Given the description of an element on the screen output the (x, y) to click on. 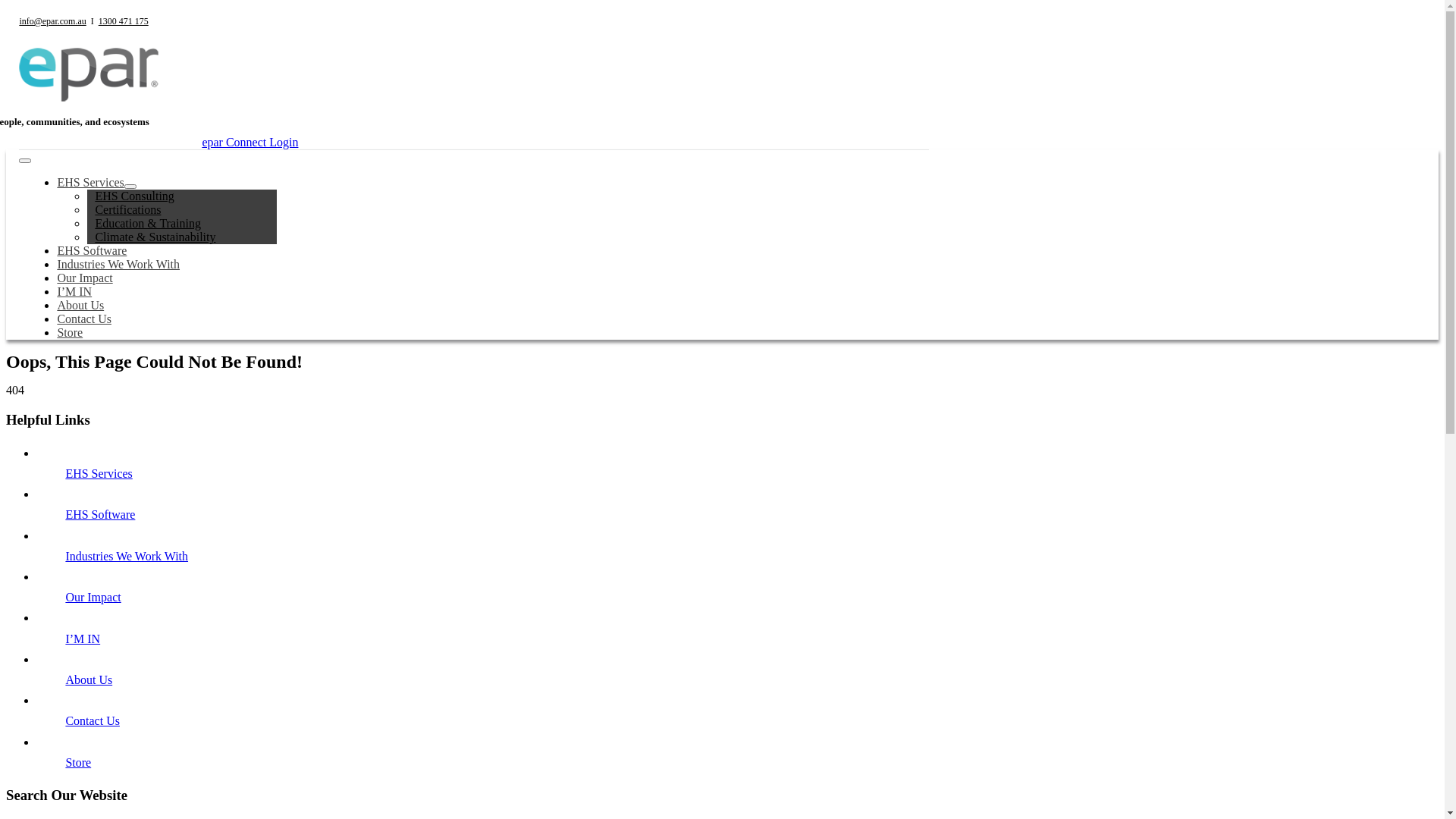
EHS Services Element type: text (98, 473)
Our Impact Element type: text (84, 277)
Toggle Navigation Element type: text (24, 160)
Industries We Work With Element type: text (126, 555)
1300 471 175 Element type: text (123, 20)
Contact Us Element type: text (92, 720)
Skip to content Element type: text (5, 5)
Contact Us Element type: text (83, 318)
EHS Software Element type: text (91, 250)
epar Connect Login Element type: text (249, 141)
EHS Services Element type: text (89, 181)
info@epar.com.au Element type: text (51, 20)
Our Impact Element type: text (92, 596)
EHS Software Element type: text (99, 514)
Certifications Element type: text (127, 209)
Store Element type: text (69, 332)
Industries We Work With Element type: text (117, 263)
About Us Element type: text (88, 679)
Education & Training Element type: text (147, 223)
About Us Element type: text (79, 304)
Store Element type: text (78, 762)
EHS Consulting Element type: text (134, 196)
Climate & Sustainability Element type: text (154, 236)
